Given the description of an element on the screen output the (x, y) to click on. 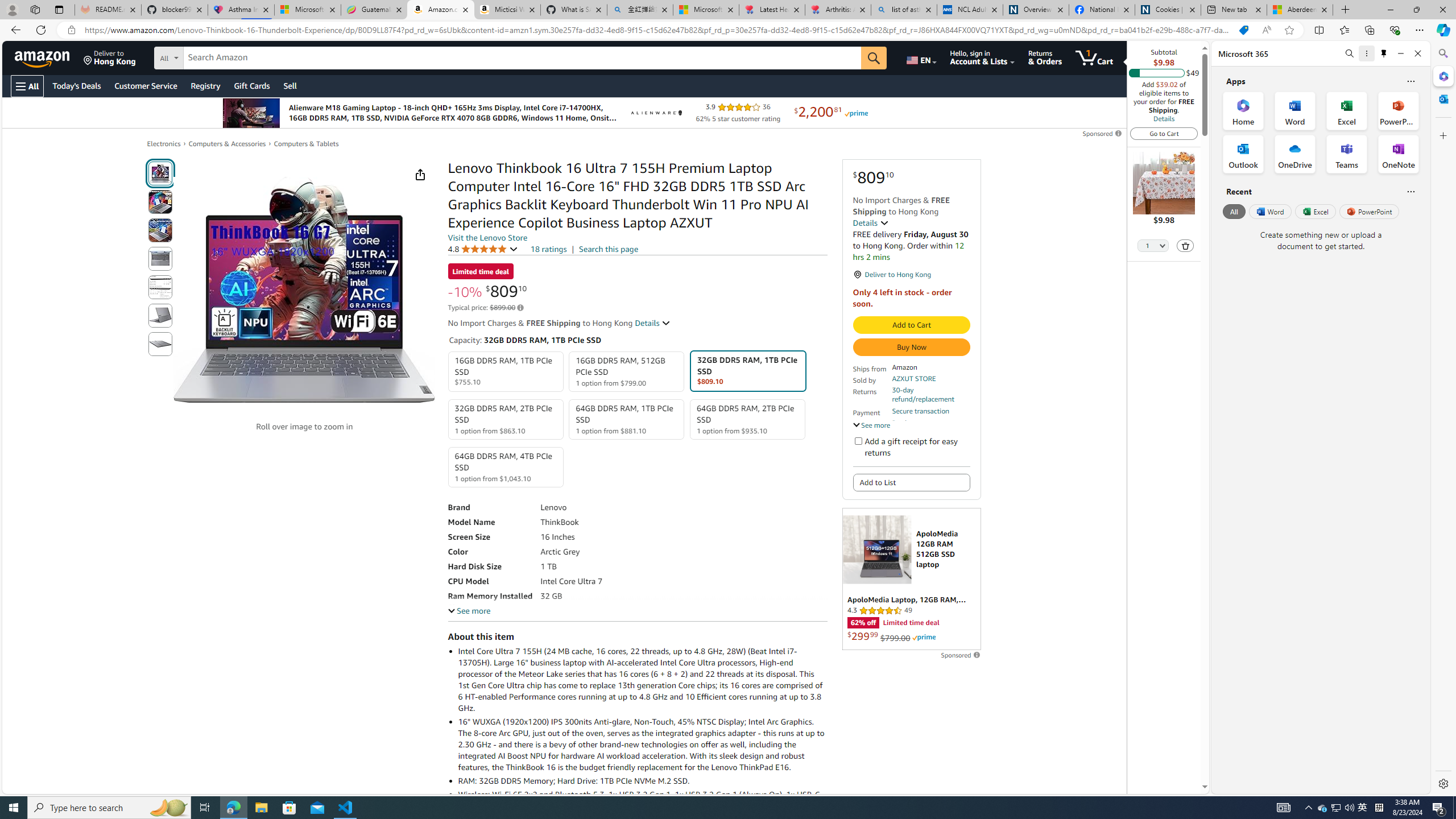
Cookies | About | NICE (1167, 9)
Share (419, 174)
Returns & Orders (1045, 57)
PowerPoint Office App (1398, 110)
Computers & Tablets (306, 143)
Delete (1184, 245)
64GB DDR5 RAM, 4TB PCIe SSD 1 option from $1,043.10 (505, 466)
Logo (655, 112)
Electronics (163, 144)
Details (1163, 118)
